Given the description of an element on the screen output the (x, y) to click on. 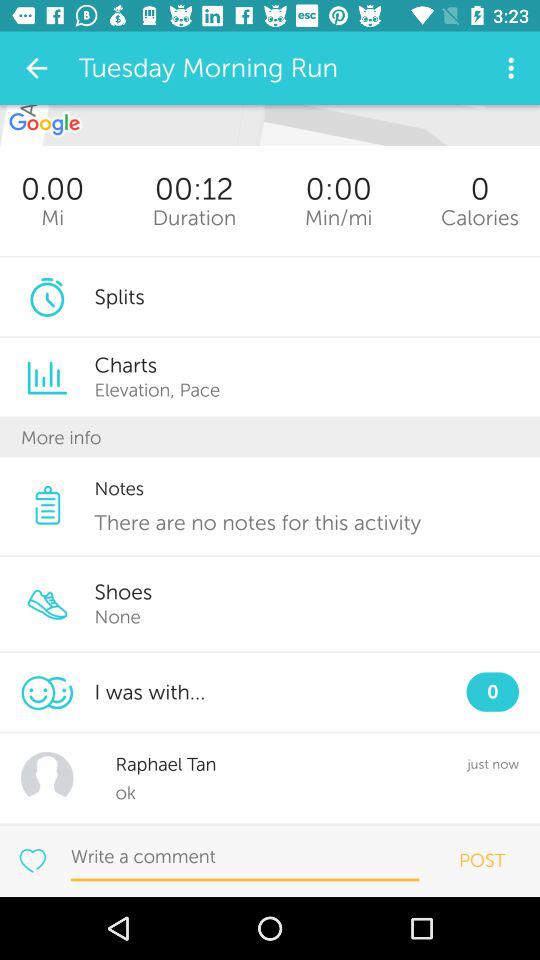
write a comment (244, 857)
